Given the description of an element on the screen output the (x, y) to click on. 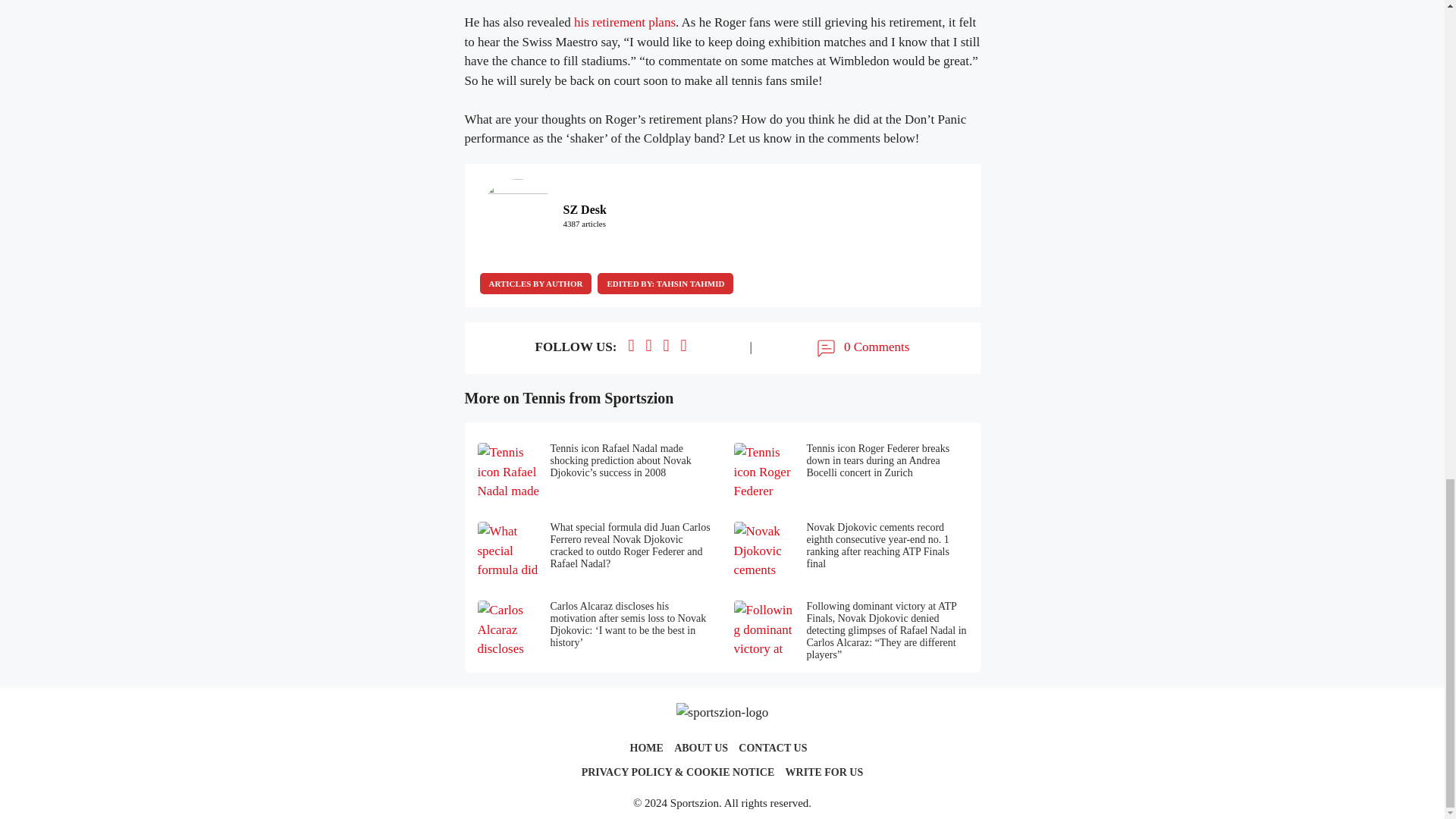
EDITED BY: TAHSIN TAHMID (664, 283)
ARTICLES BY AUTHOR (535, 283)
his retirement plans (624, 22)
0 Comments (861, 347)
